Given the description of an element on the screen output the (x, y) to click on. 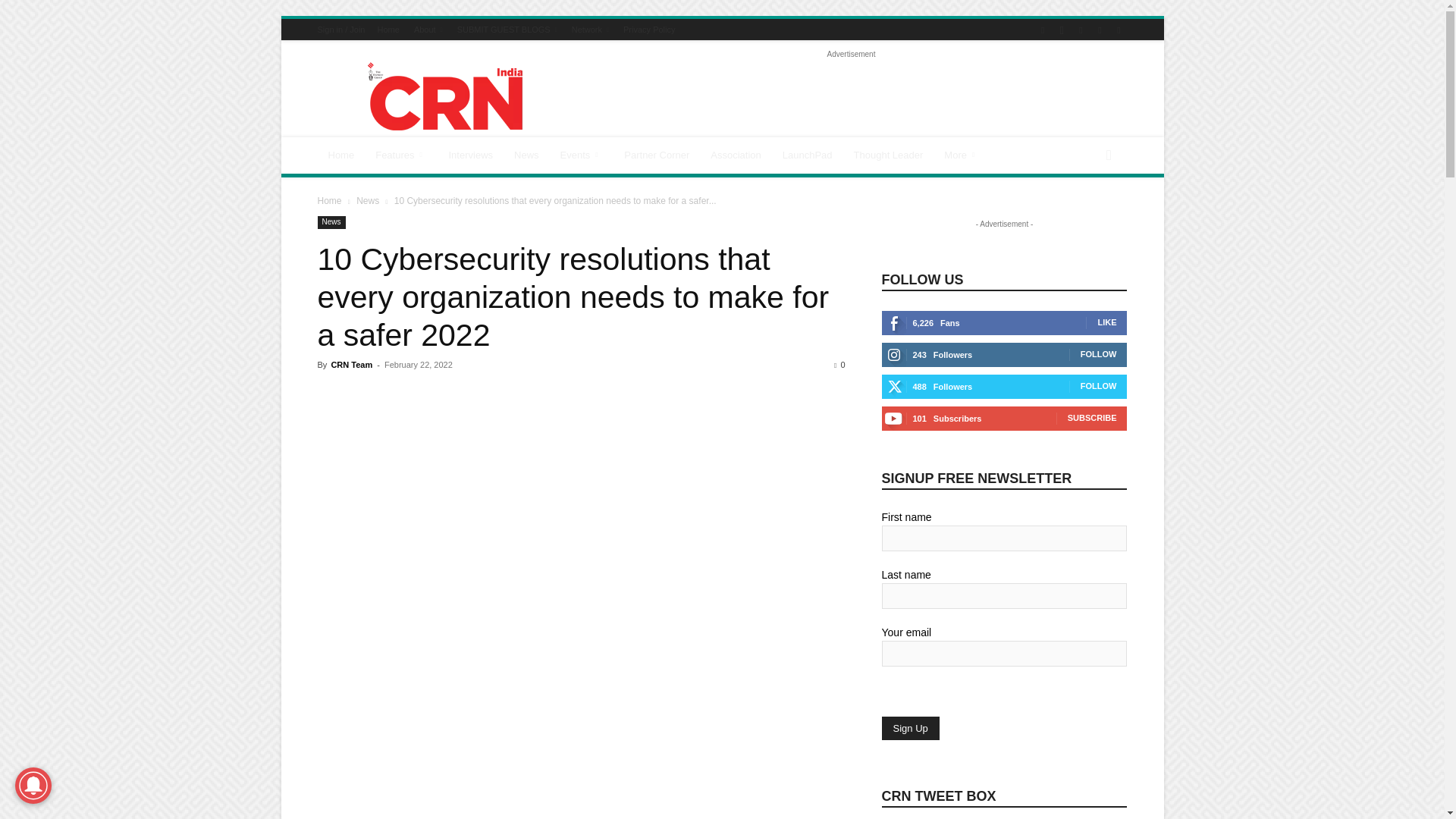
CRN Logo (445, 96)
Sign Up (909, 728)
View all posts in News (367, 200)
